Given the description of an element on the screen output the (x, y) to click on. 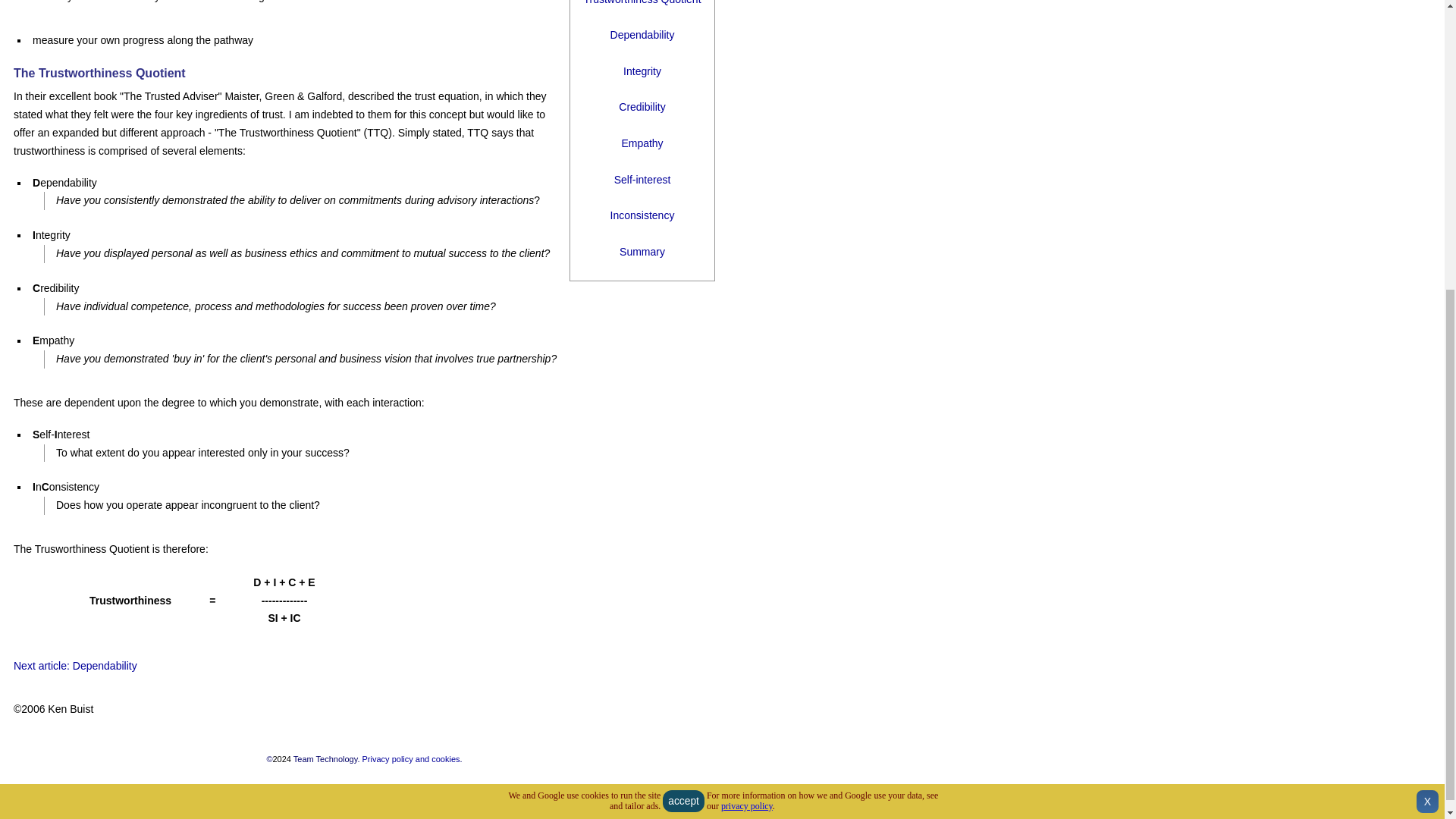
Credibility (641, 106)
Privacy policy and cookies (411, 758)
Next article: Dependability (74, 665)
Inconsistency (642, 215)
Summary (642, 251)
Self-interest (642, 179)
Integrity (642, 70)
Trustworthiness Quotient (641, 2)
Dependability (642, 34)
Empathy (641, 143)
